Given the description of an element on the screen output the (x, y) to click on. 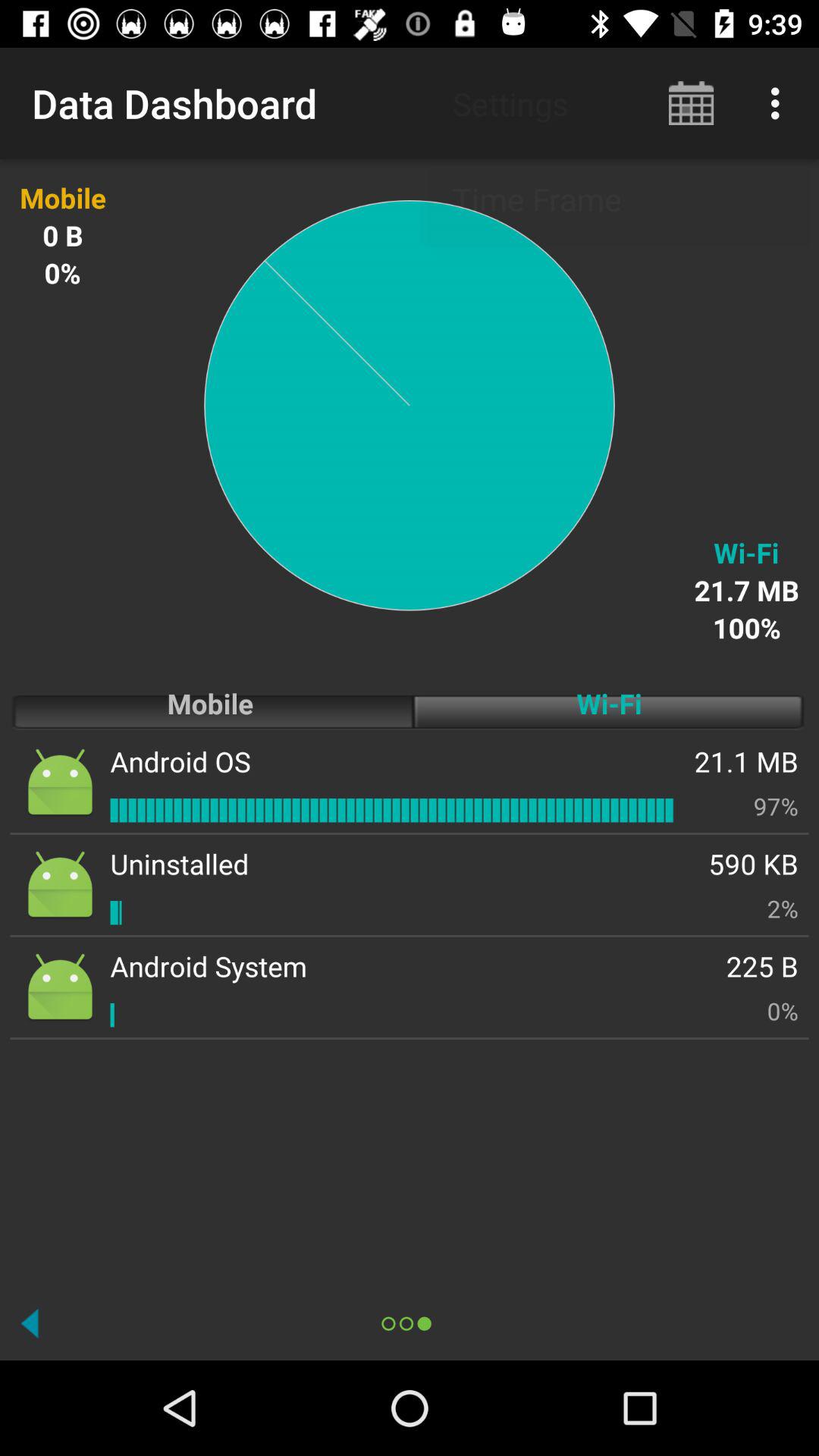
scroll until android os app (180, 761)
